Given the description of an element on the screen output the (x, y) to click on. 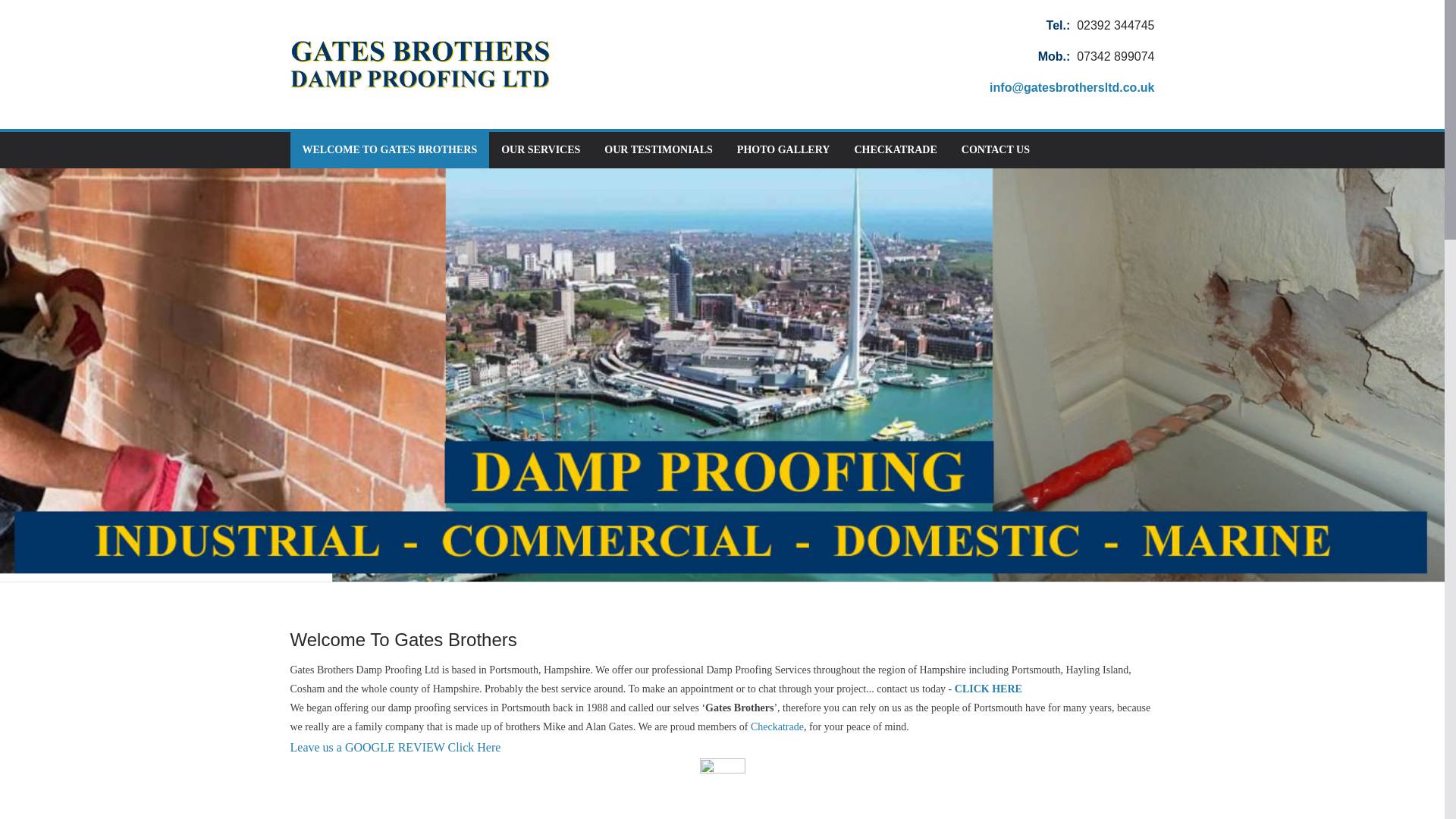
PHOTO GALLERY (782, 149)
CLICK HERE  (990, 688)
CHECKATRADE (894, 149)
OUR TESTIMONIALS (658, 149)
WELCOME TO GATES BROTHERS (389, 149)
Leave us a GOOGLE REVIEW Click Here (394, 747)
OUR SERVICES (539, 149)
CONTACT US (994, 149)
Checkatrade (777, 726)
